Given the description of an element on the screen output the (x, y) to click on. 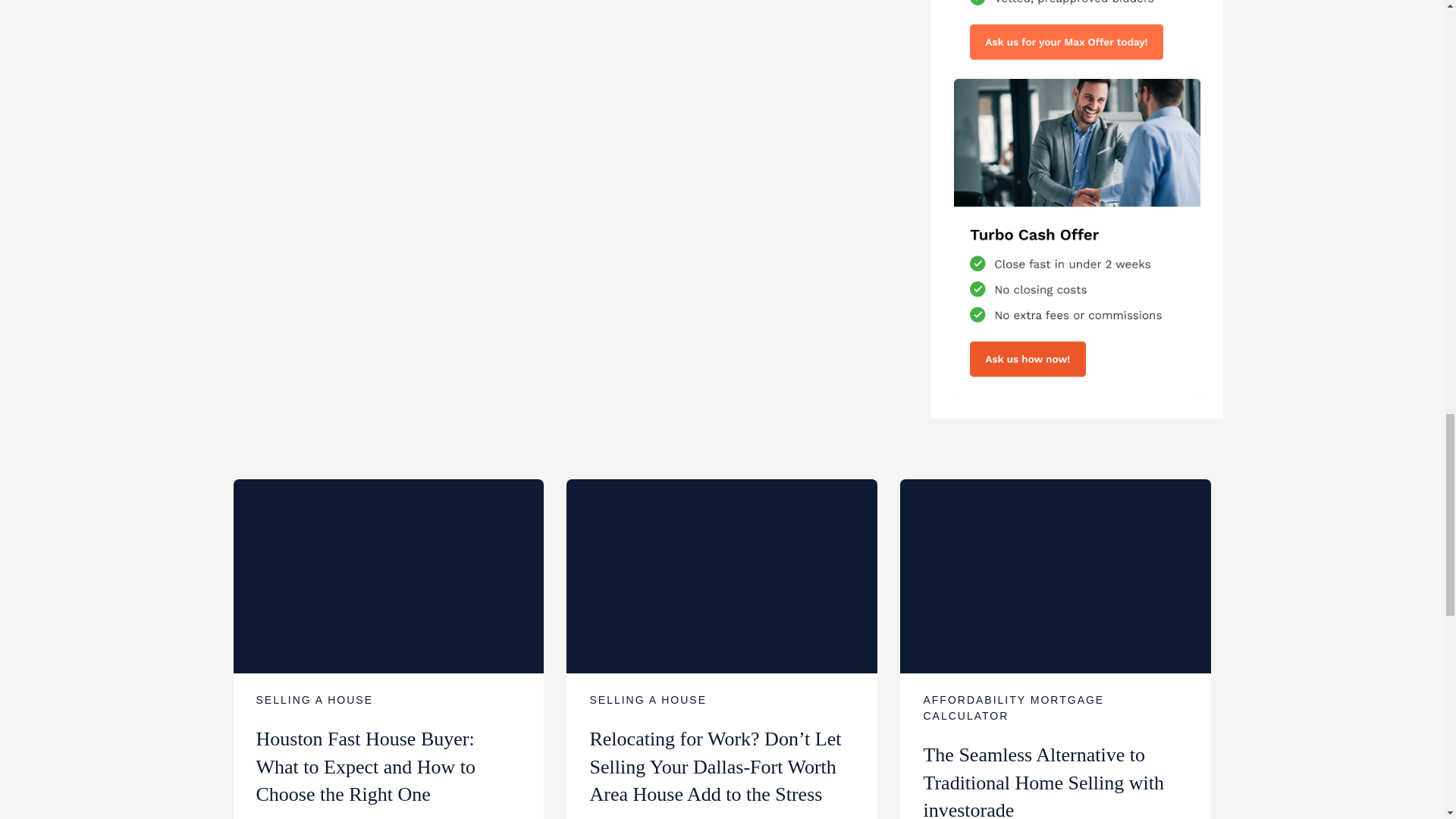
Read Article (1055, 576)
Read Article (388, 576)
Read Article (721, 576)
